Given the description of an element on the screen output the (x, y) to click on. 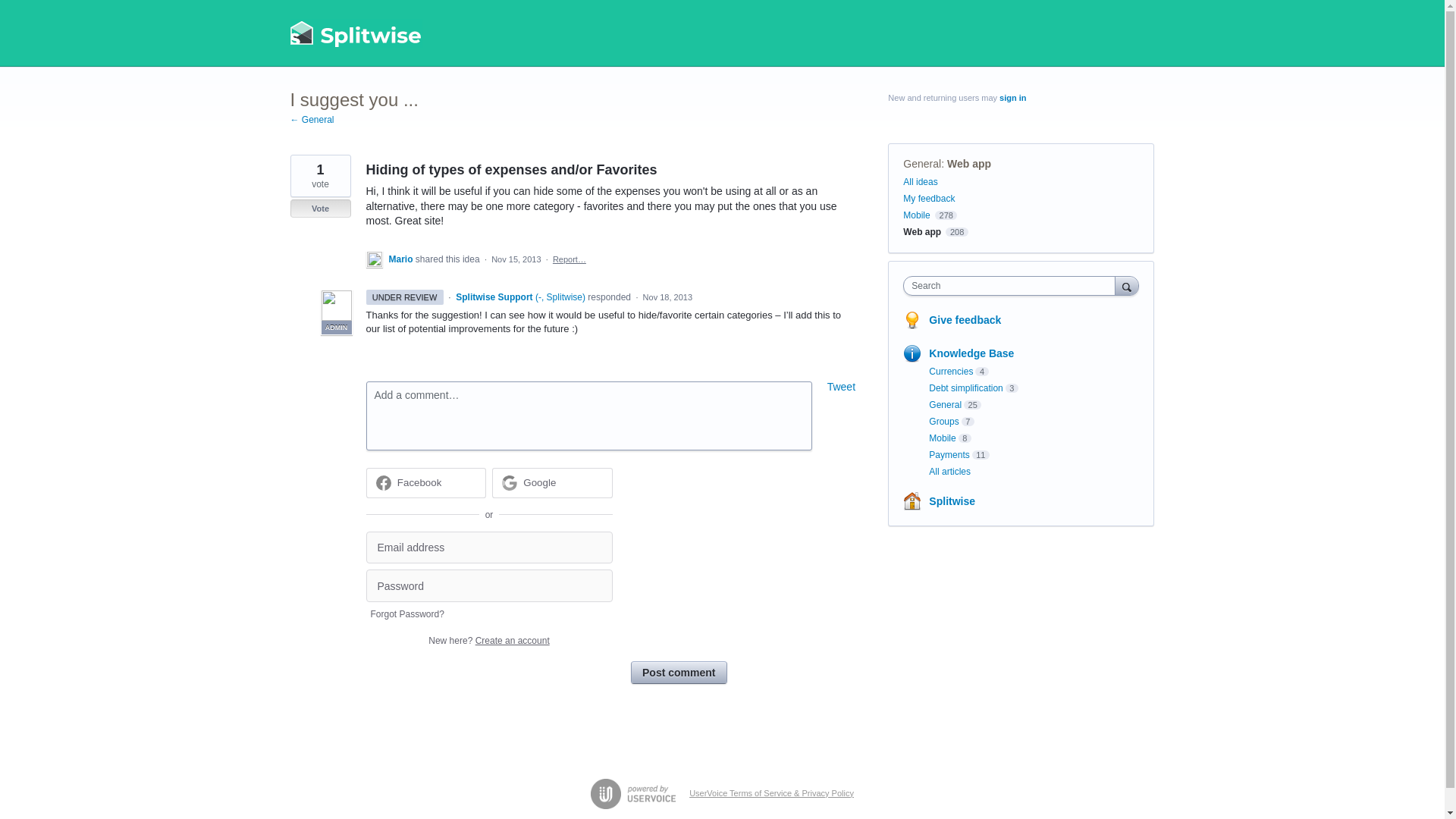
Tweet (841, 386)
sign in (1012, 97)
Splitwise feedback and helpdesk (355, 32)
View all ideas in category Web app (921, 231)
View all ideas in category Mobile (916, 214)
Facebook (425, 482)
This idea is under review - updated over 10 years ago (403, 296)
Forgot Password? (406, 613)
New here? Create an account (488, 640)
Skip to content (12, 12)
Mario (401, 258)
Google (539, 482)
Facebook (419, 482)
Post comment (678, 671)
Facebook sign in (425, 482)
